Given the description of an element on the screen output the (x, y) to click on. 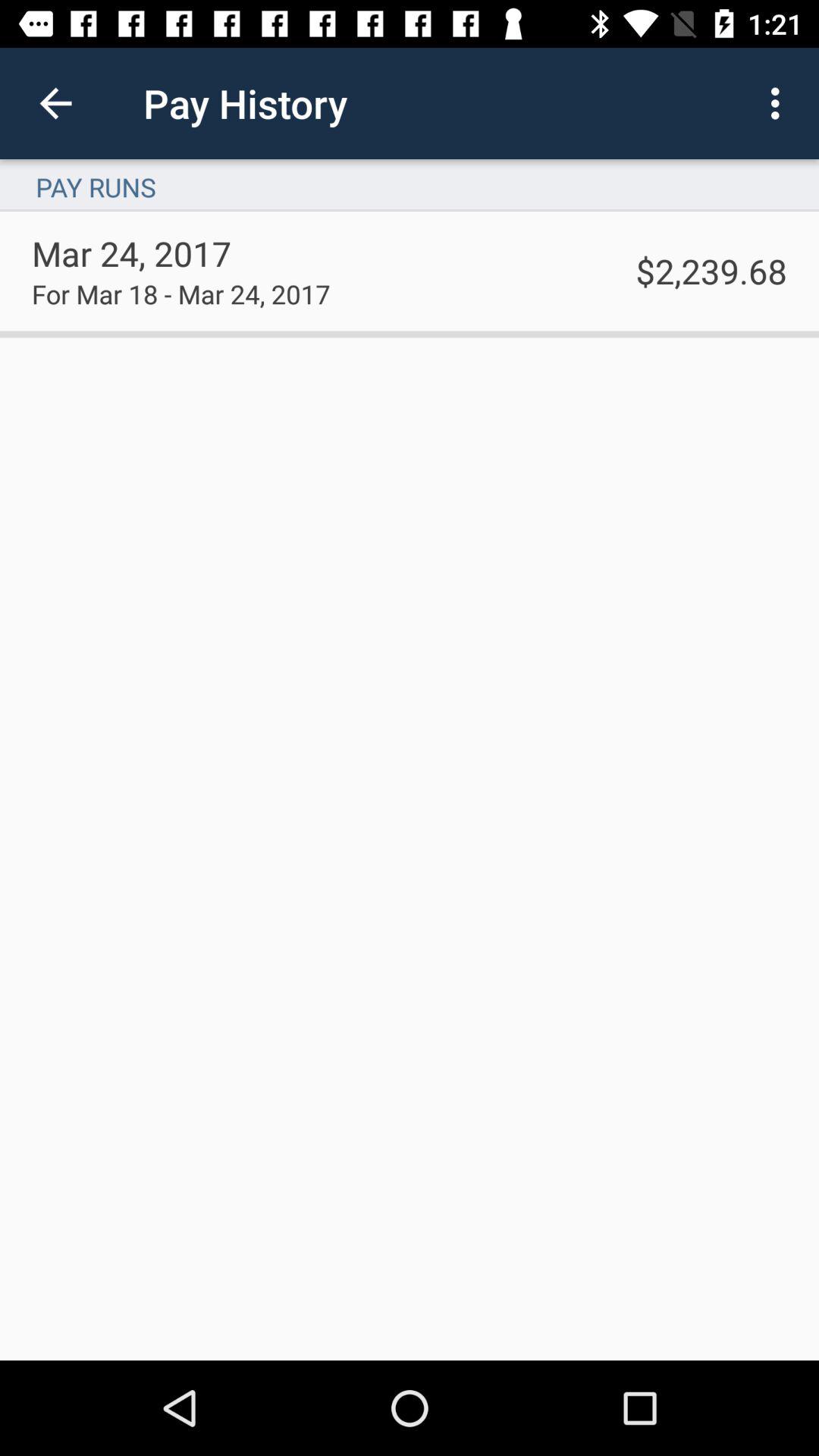
turn off the icon to the right of the mar 24, 2017 (711, 270)
